Given the description of an element on the screen output the (x, y) to click on. 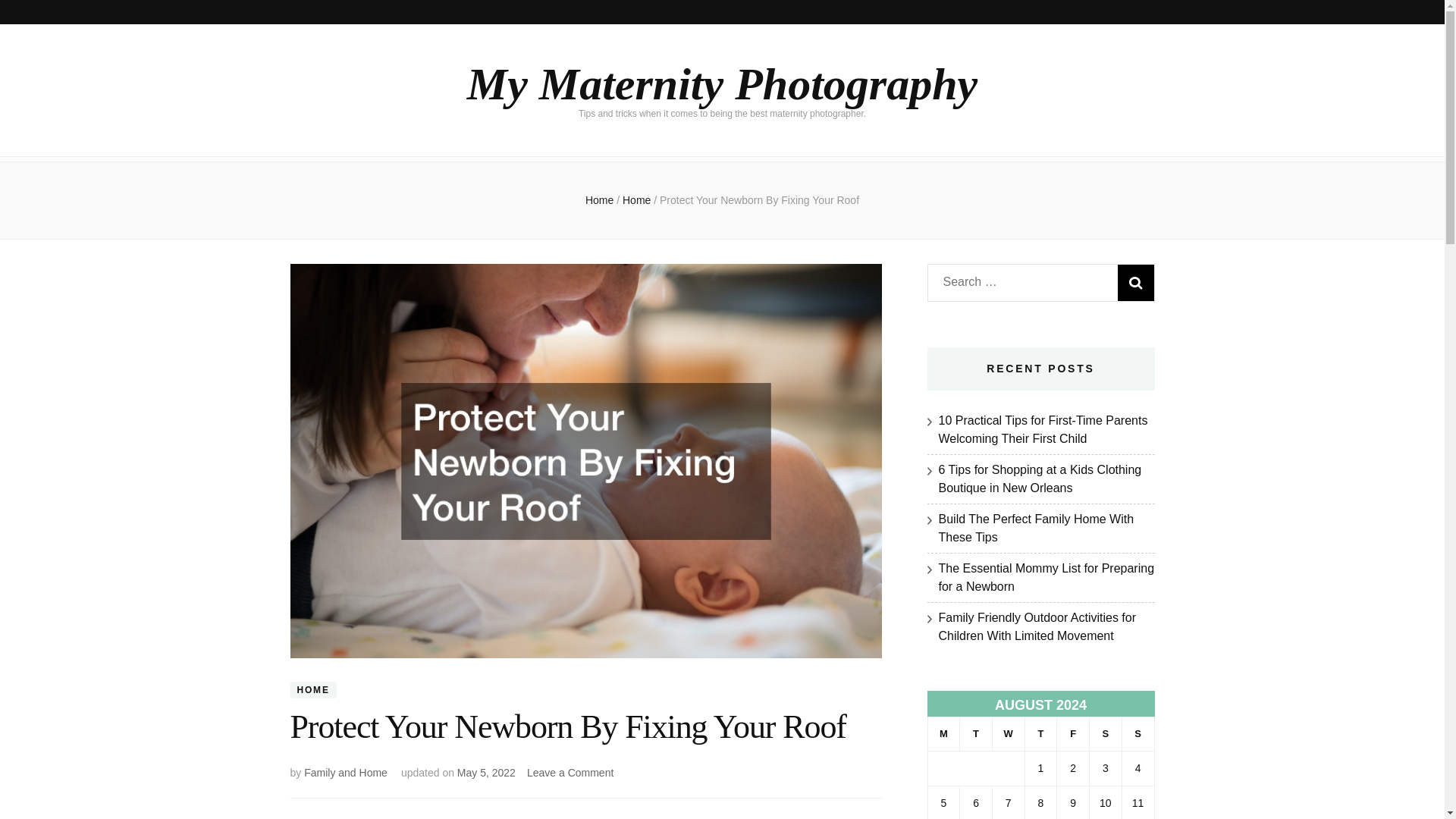
Home (598, 200)
Monday (943, 734)
Family and Home (345, 772)
Friday (1073, 734)
Home (638, 200)
Search (1136, 282)
Protect Your Newborn By Fixing Your Roof (759, 200)
Build The Perfect Family Home With These Tips (1036, 527)
Tuesday (975, 734)
My Maternity Photography (721, 83)
Sunday (1137, 734)
Saturday (1105, 734)
